Given the description of an element on the screen output the (x, y) to click on. 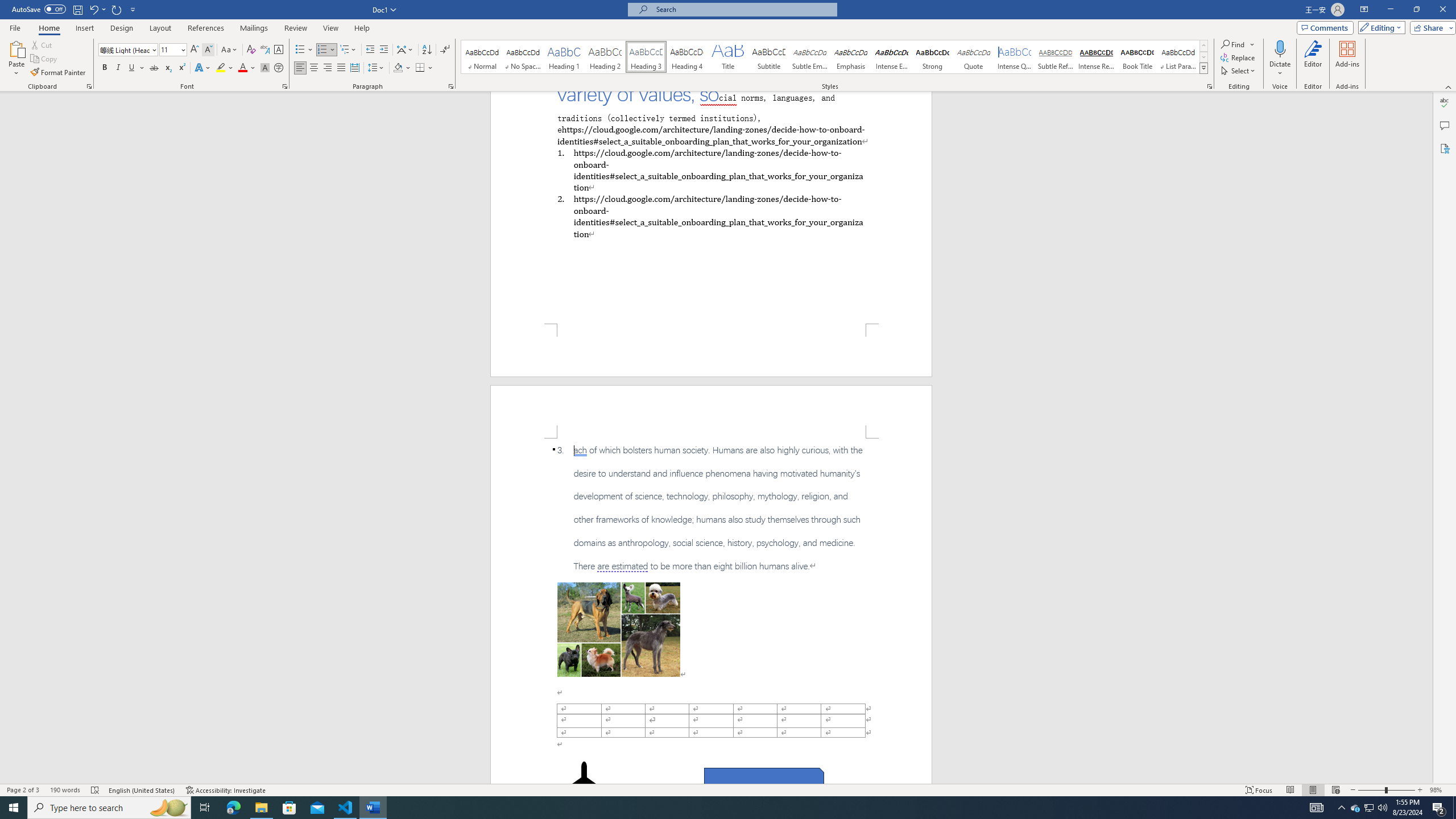
Undo Paragraph Alignment (92, 9)
Text Highlight Color Yellow (220, 67)
Page 2 content (710, 610)
